Given the description of an element on the screen output the (x, y) to click on. 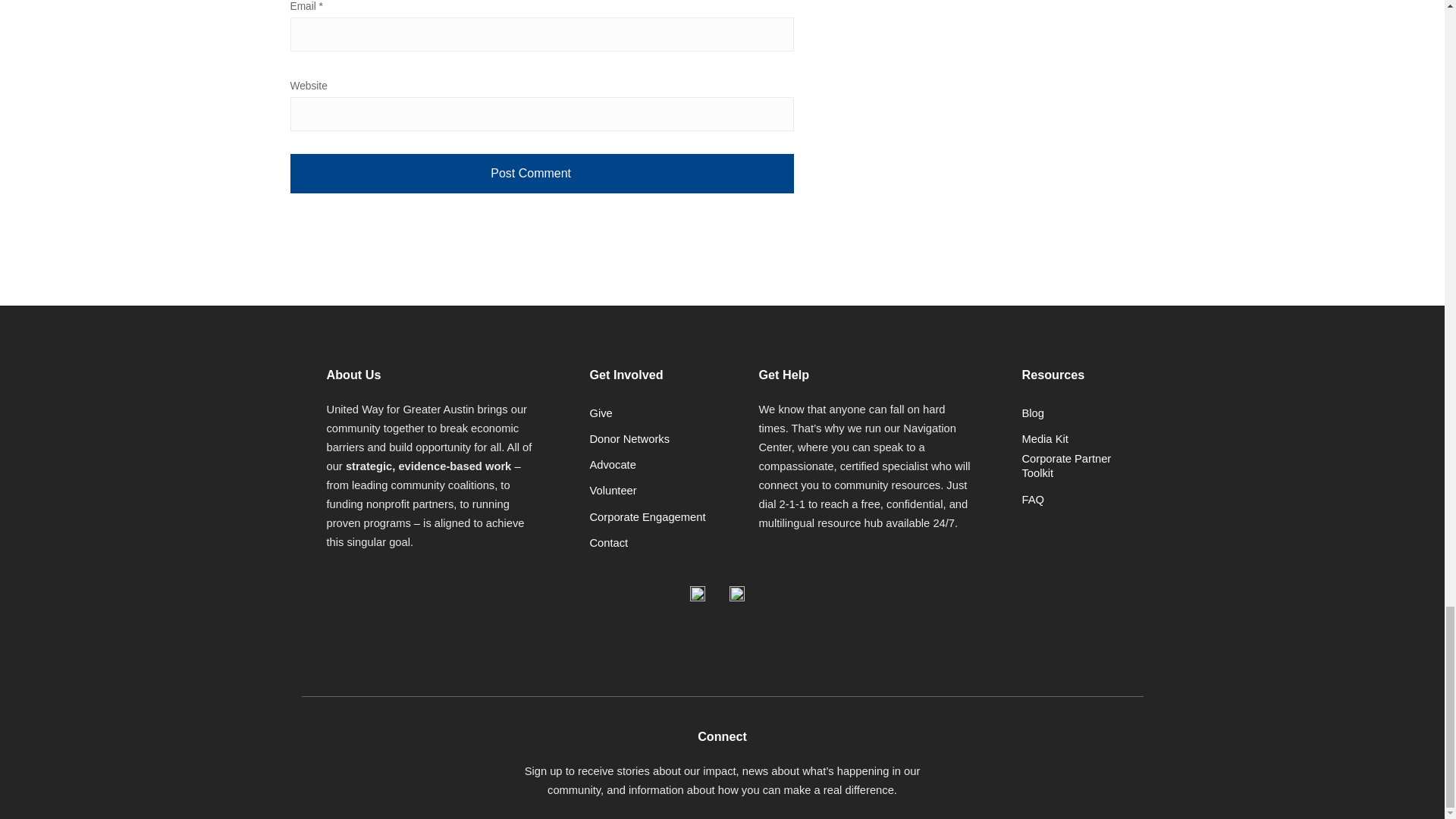
Post Comment (541, 173)
